Given the description of an element on the screen output the (x, y) to click on. 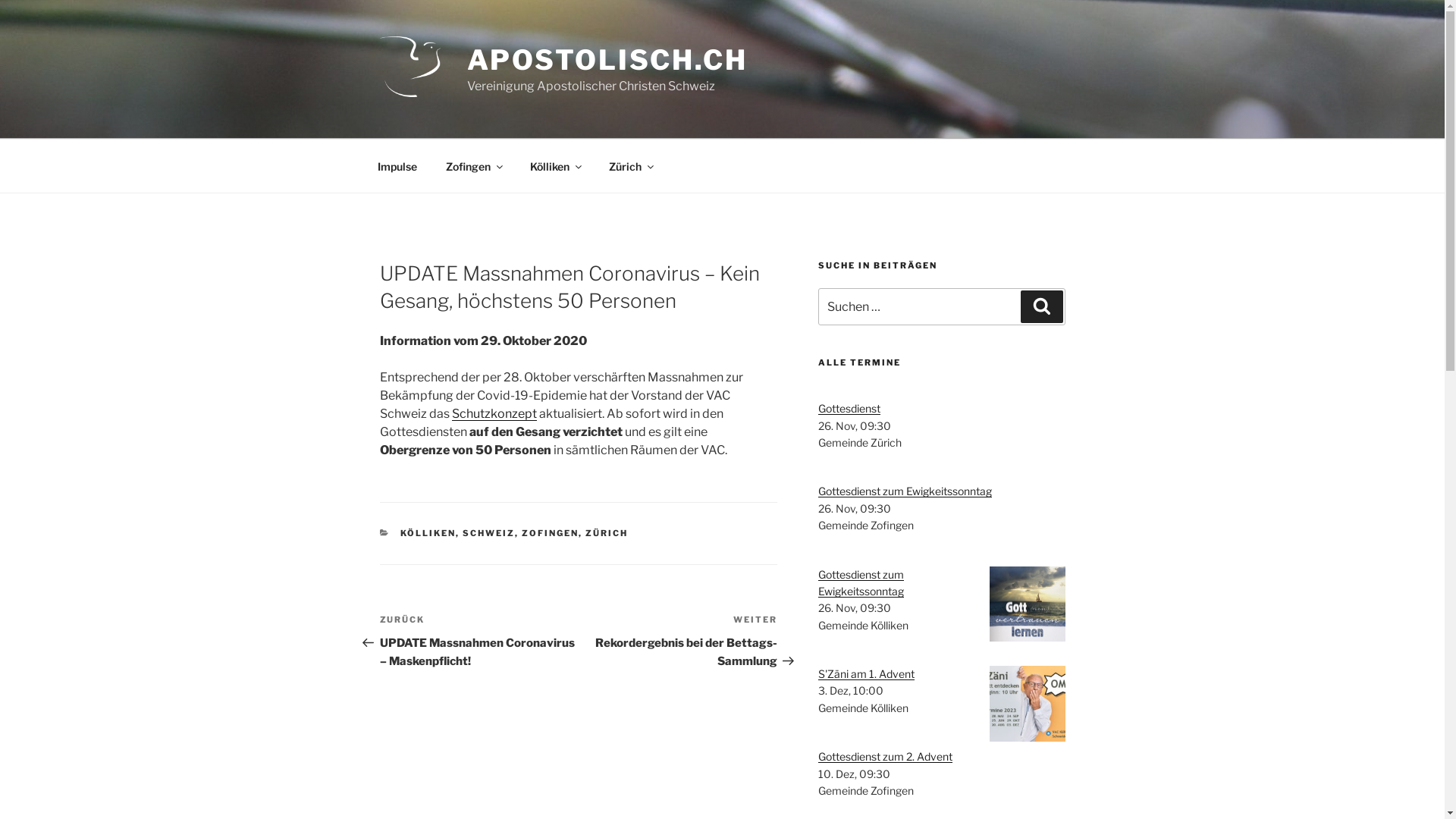
Schutzkonzept Element type: text (493, 413)
Gottesdienst zum 2. Advent Element type: text (885, 755)
Gottesdienst Element type: text (849, 407)
Gottesdienst zum Ewigkeitssonntag Element type: text (904, 490)
SCHWEIZ Element type: text (488, 532)
APOSTOLISCH.CH Element type: text (607, 59)
Gottesdienst zum Ewigkeitssonntag Element type: text (860, 581)
Impulse Element type: text (396, 165)
Suchen Element type: text (1041, 306)
ZOFINGEN Element type: text (549, 532)
Zofingen Element type: text (473, 165)
